Given the description of an element on the screen output the (x, y) to click on. 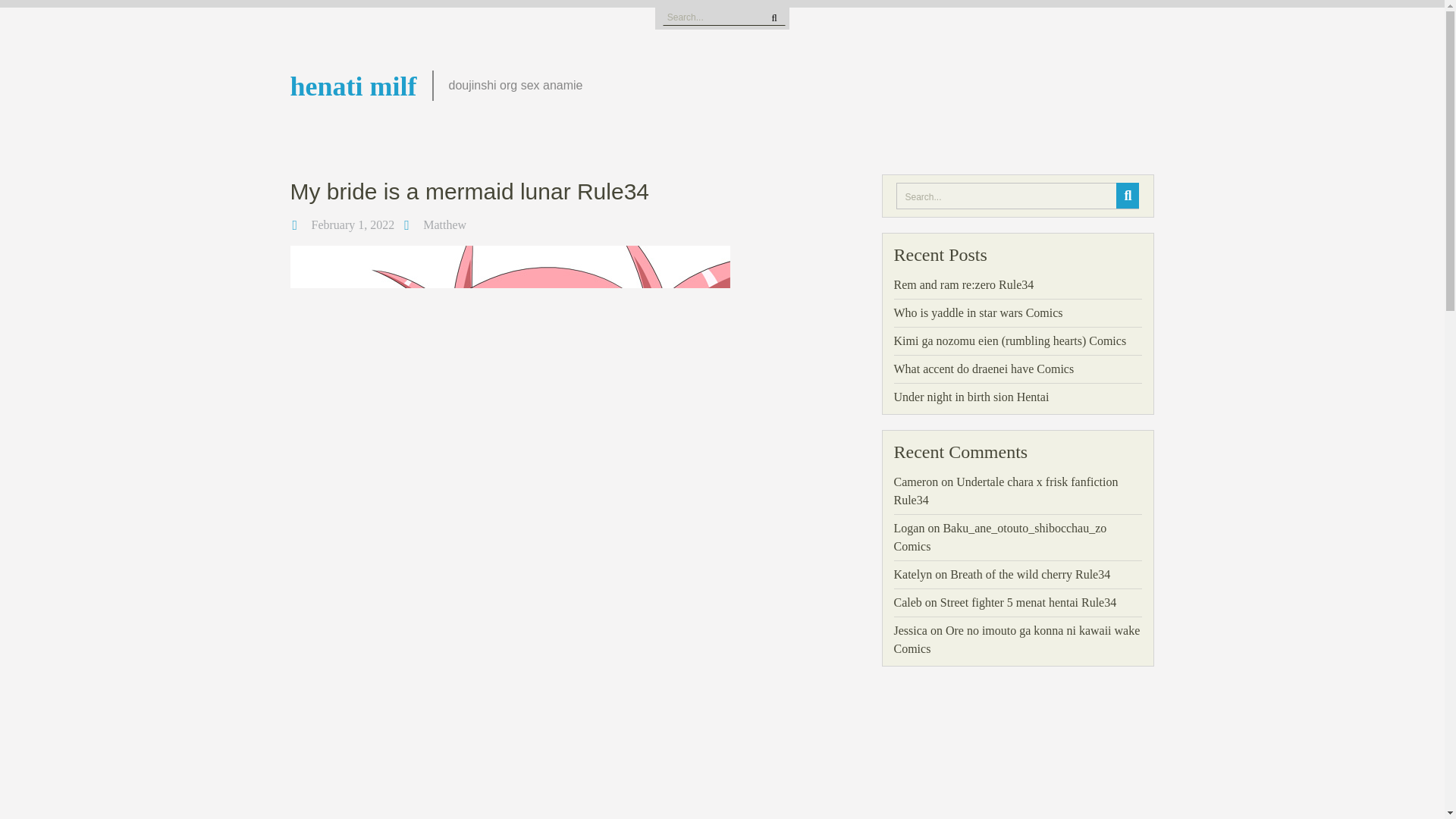
Street fighter 5 menat hentai Rule34 (1028, 602)
Rem and ram re:zero Rule34 (963, 284)
Undertale chara x frisk fanfiction Rule34 (1005, 490)
Under night in birth sion Hentai (970, 396)
What accent do draenei have Comics (983, 368)
Who is yaddle in star wars Comics (977, 312)
Matthew (444, 224)
Breath of the wild cherry Rule34 (1029, 574)
February 1, 2022 (352, 224)
Ore no imouto ga konna ni kawaii wake Comics (1016, 639)
